Given the description of an element on the screen output the (x, y) to click on. 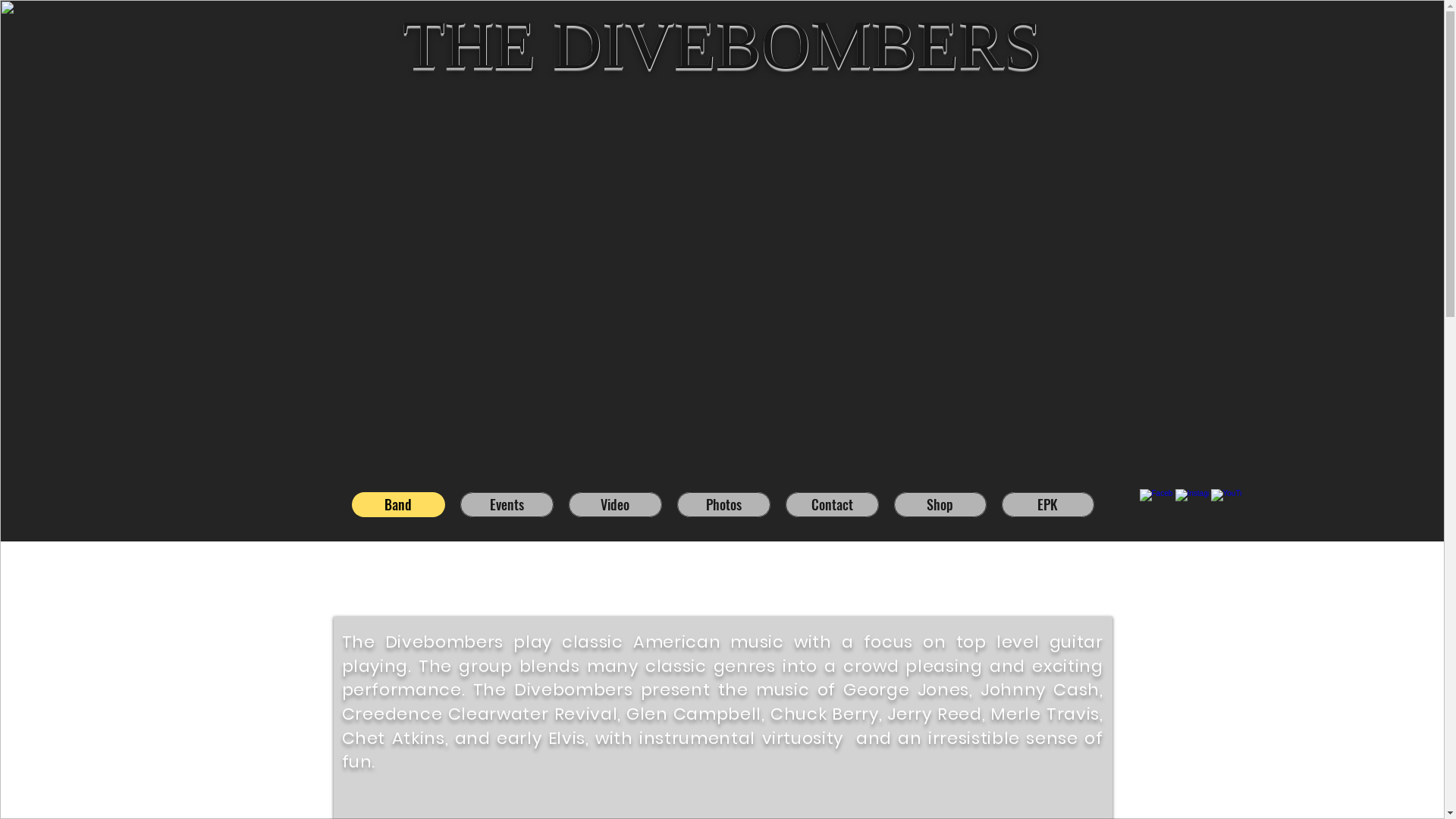
Photos Element type: text (722, 504)
EPK Element type: text (1047, 504)
Events Element type: text (505, 504)
Video Element type: text (615, 504)
Shop Element type: text (939, 504)
Contact Element type: text (831, 504)
Band Element type: text (398, 504)
